Given the description of an element on the screen output the (x, y) to click on. 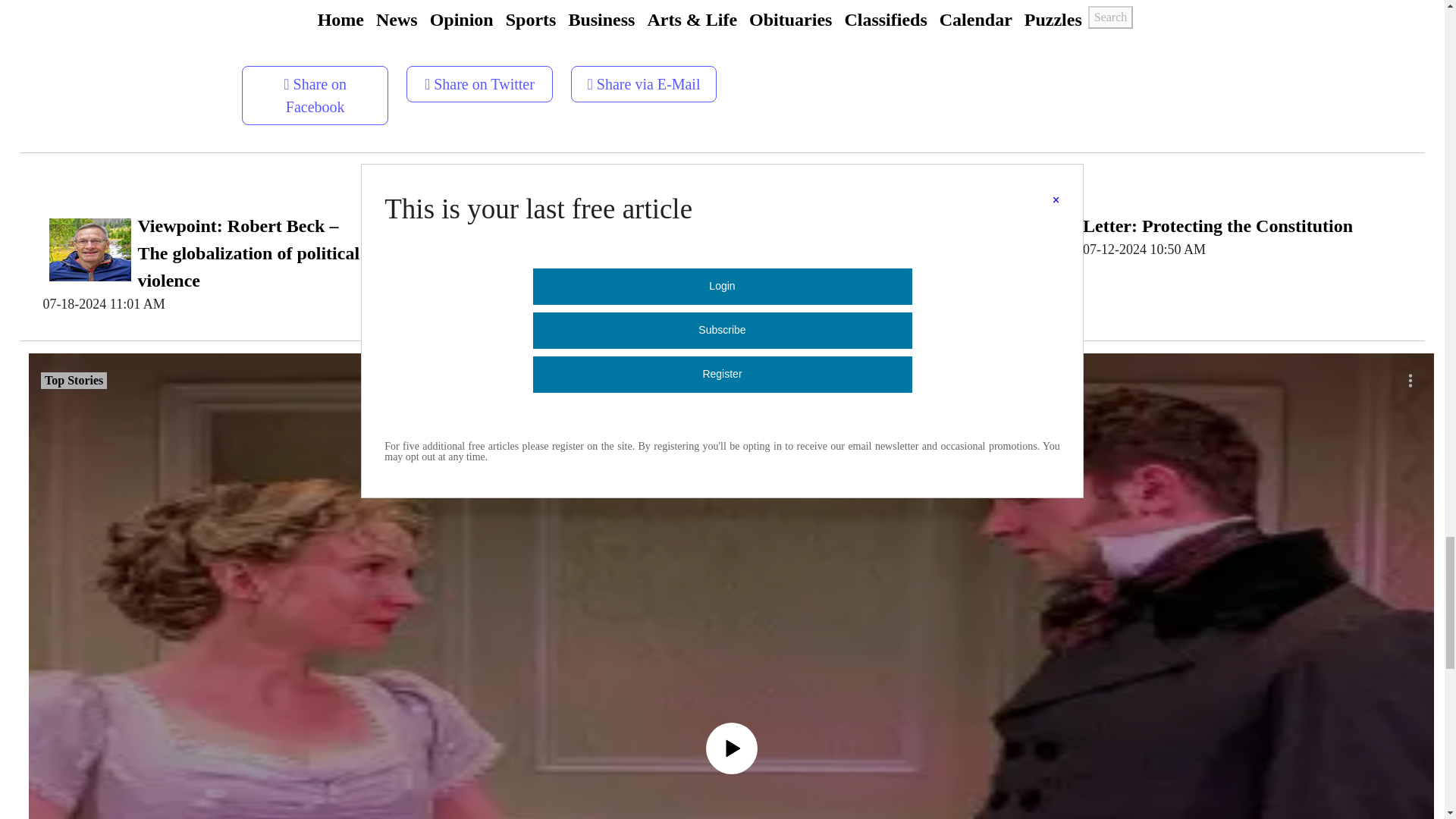
Share on Facebook (314, 89)
Share on Twitter (479, 78)
Share on Twitter (479, 84)
Share via E-Mail (643, 78)
Share via E-Mail (643, 84)
Share on Facebook (314, 95)
